Given the description of an element on the screen output the (x, y) to click on. 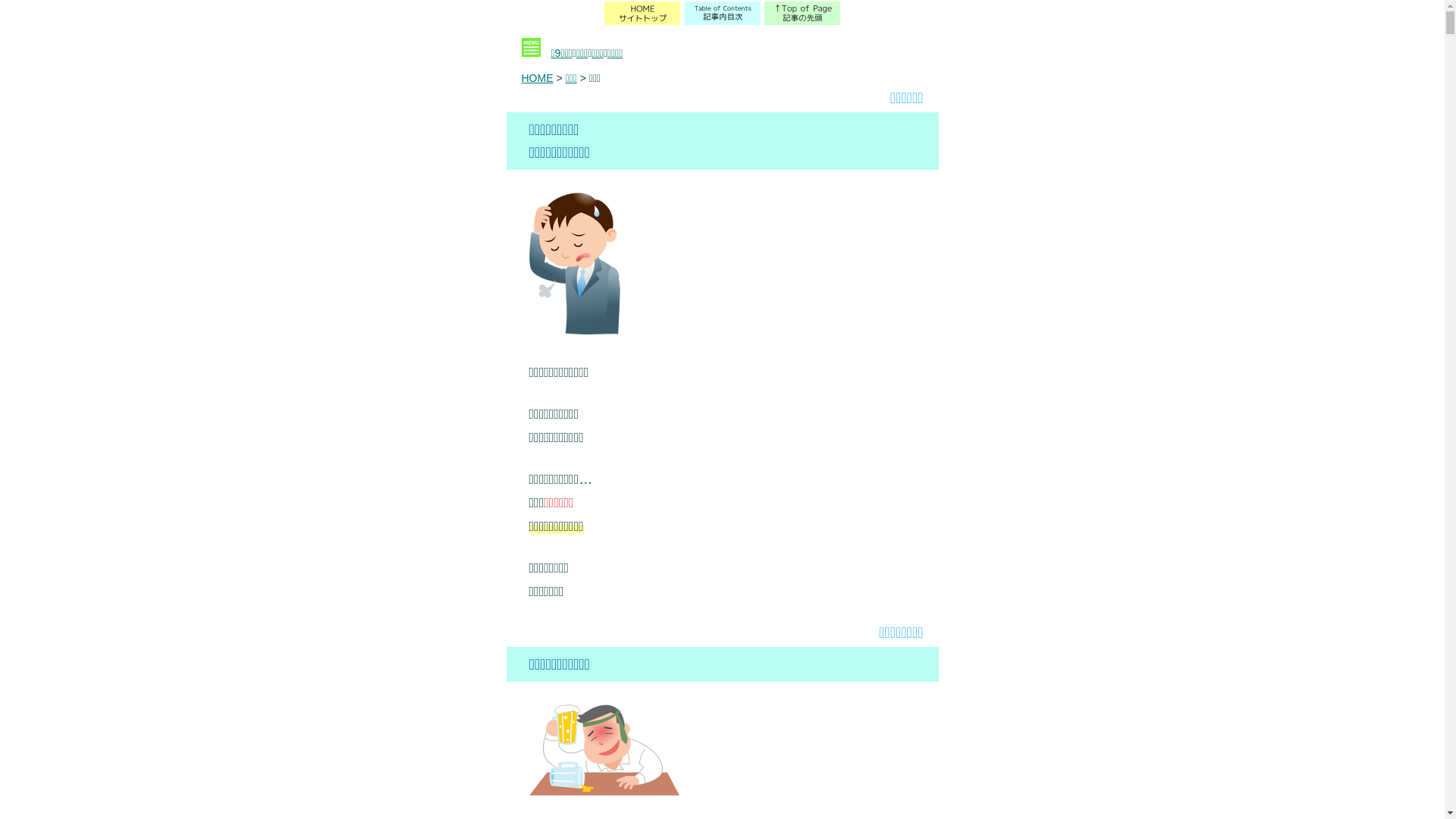
HOME Element type: text (537, 78)
